Given the description of an element on the screen output the (x, y) to click on. 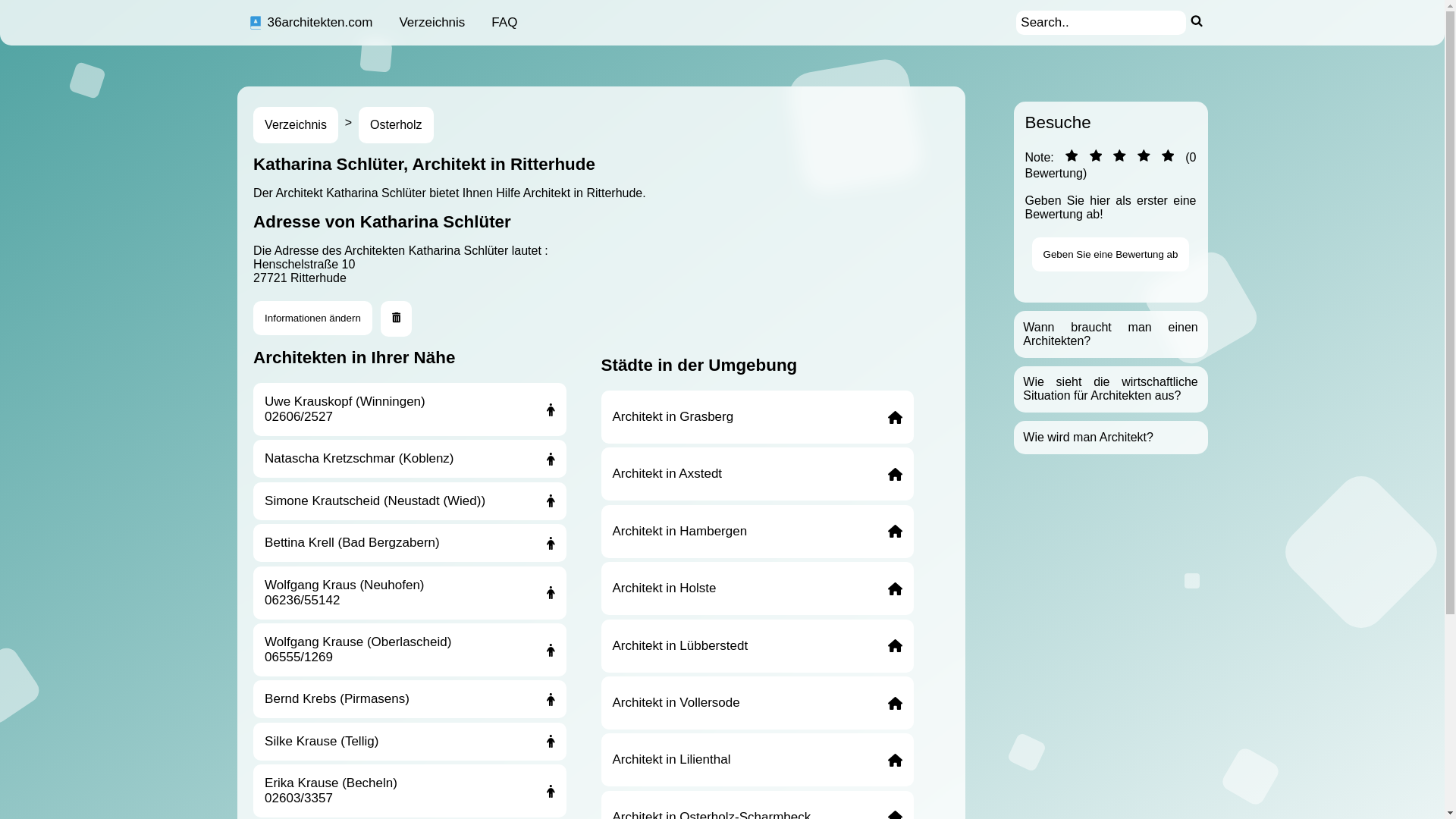
Bernd Krebs (Pirmasens) Element type: text (409, 699)
Wie wird man Architekt? Element type: text (1087, 436)
Verzeichnis Element type: text (295, 124)
Wann braucht man einen Architekten? Element type: text (1109, 333)
Architekt in Axstedt Element type: text (756, 473)
Architekt in Lilienthal Element type: text (756, 759)
Erika Krause (Becheln)
02603/3357 Element type: text (409, 790)
Wolfgang Krause (Oberlascheid)
06555/1269 Element type: text (409, 649)
Wolfgang Kraus (Neuhofen)
06236/55142 Element type: text (409, 592)
Silke Krause (Tellig) Element type: text (409, 741)
Architekt in Grasberg Element type: text (756, 416)
36architekten.com Element type: text (309, 22)
Natascha Kretzschmar (Koblenz) Element type: text (409, 458)
Bettina Krell (Bad Bergzabern) Element type: text (409, 542)
Geben Sie eine Bewertung ab Element type: text (1110, 254)
Architekt in Holste Element type: text (756, 588)
Verzeichnis Element type: text (431, 22)
Simone Krautscheid (Neustadt (Wied)) Element type: text (409, 501)
Architekt in Hambergen Element type: text (756, 531)
FAQ Element type: text (504, 22)
Uwe Krauskopf (Winningen)
02606/2527 Element type: text (409, 409)
Architekt in Vollersode Element type: text (756, 702)
Osterholz Element type: text (395, 124)
